Given the description of an element on the screen output the (x, y) to click on. 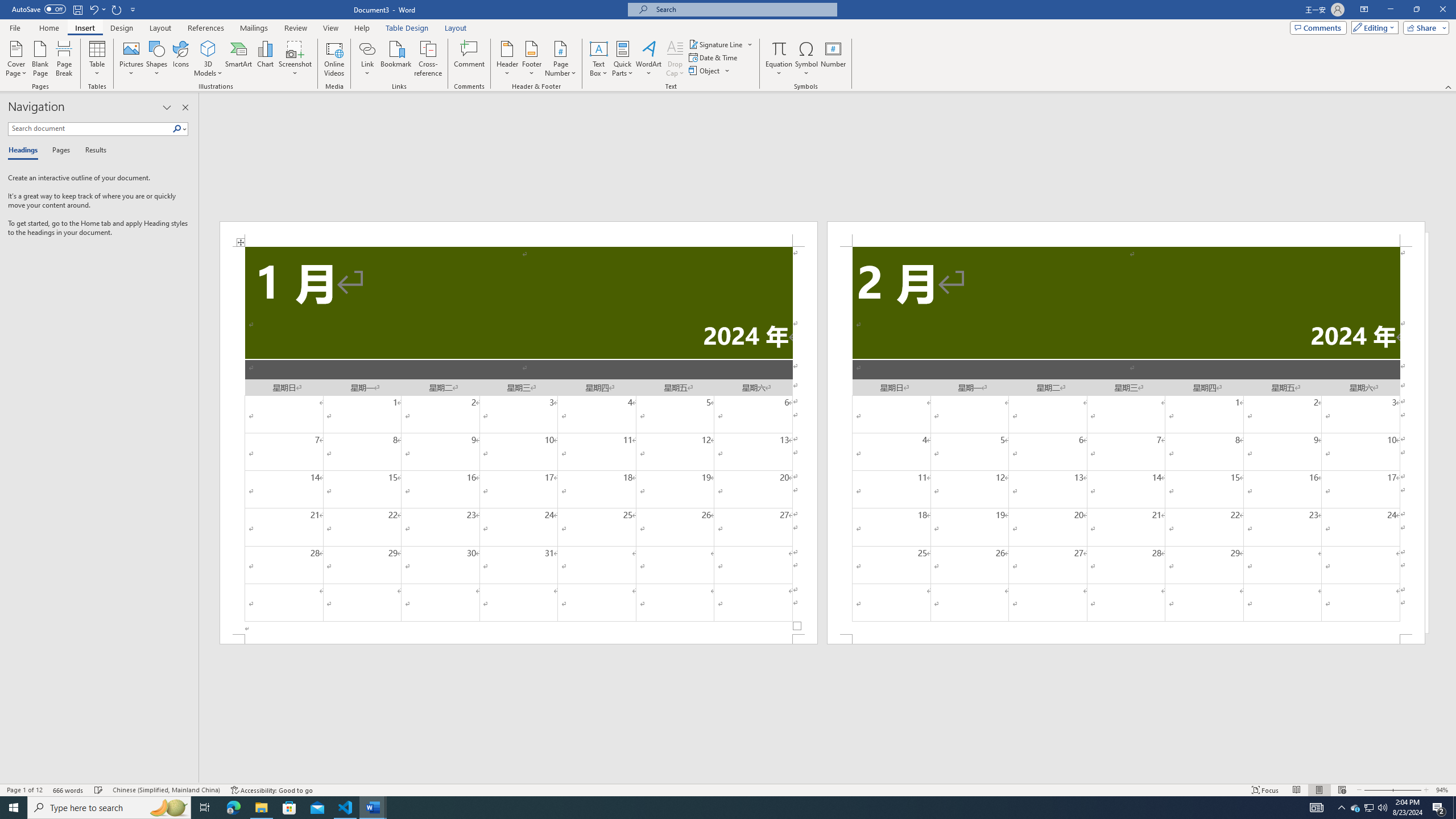
Shapes (156, 58)
Footer (531, 58)
Date & Time... (714, 56)
Quick Parts (622, 58)
Page Number Page 1 of 12 (24, 790)
Online Videos... (333, 58)
Equation (778, 58)
Text Box (598, 58)
Footer -Section 2- (1126, 638)
Language Chinese (Simplified, Mainland China) (165, 790)
